Given the description of an element on the screen output the (x, y) to click on. 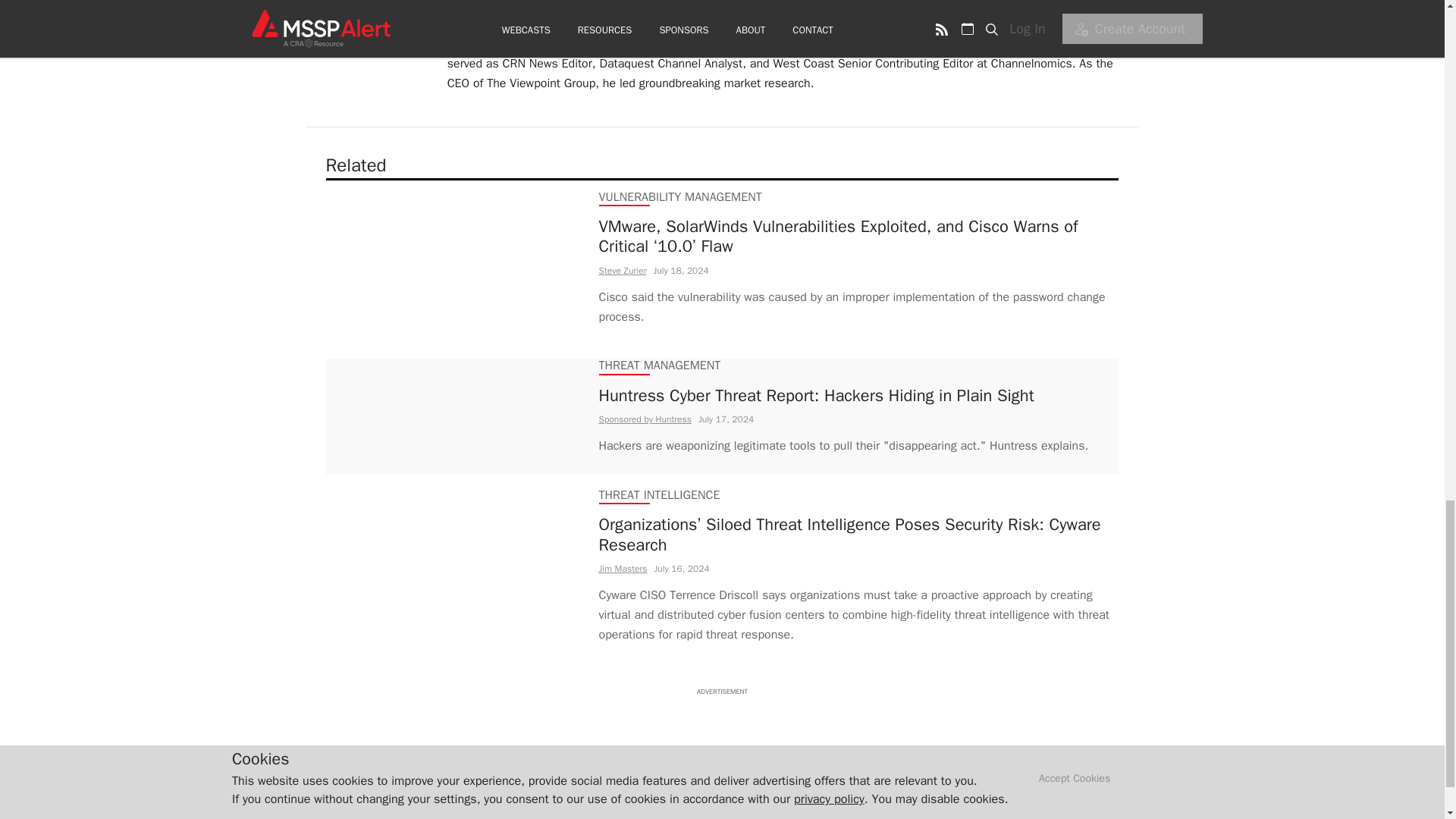
D. Howard Kass (489, 24)
Steve Zurier (622, 270)
Jim Masters (622, 568)
VULNERABILITY MANAGEMENT (679, 196)
Huntress Cyber Threat Report: Hackers Hiding in Plain Sight (843, 395)
THREAT INTELLIGENCE (659, 494)
3rd party ad content (721, 730)
Sponsored by Huntress (644, 419)
THREAT MANAGEMENT (659, 365)
